Given the description of an element on the screen output the (x, y) to click on. 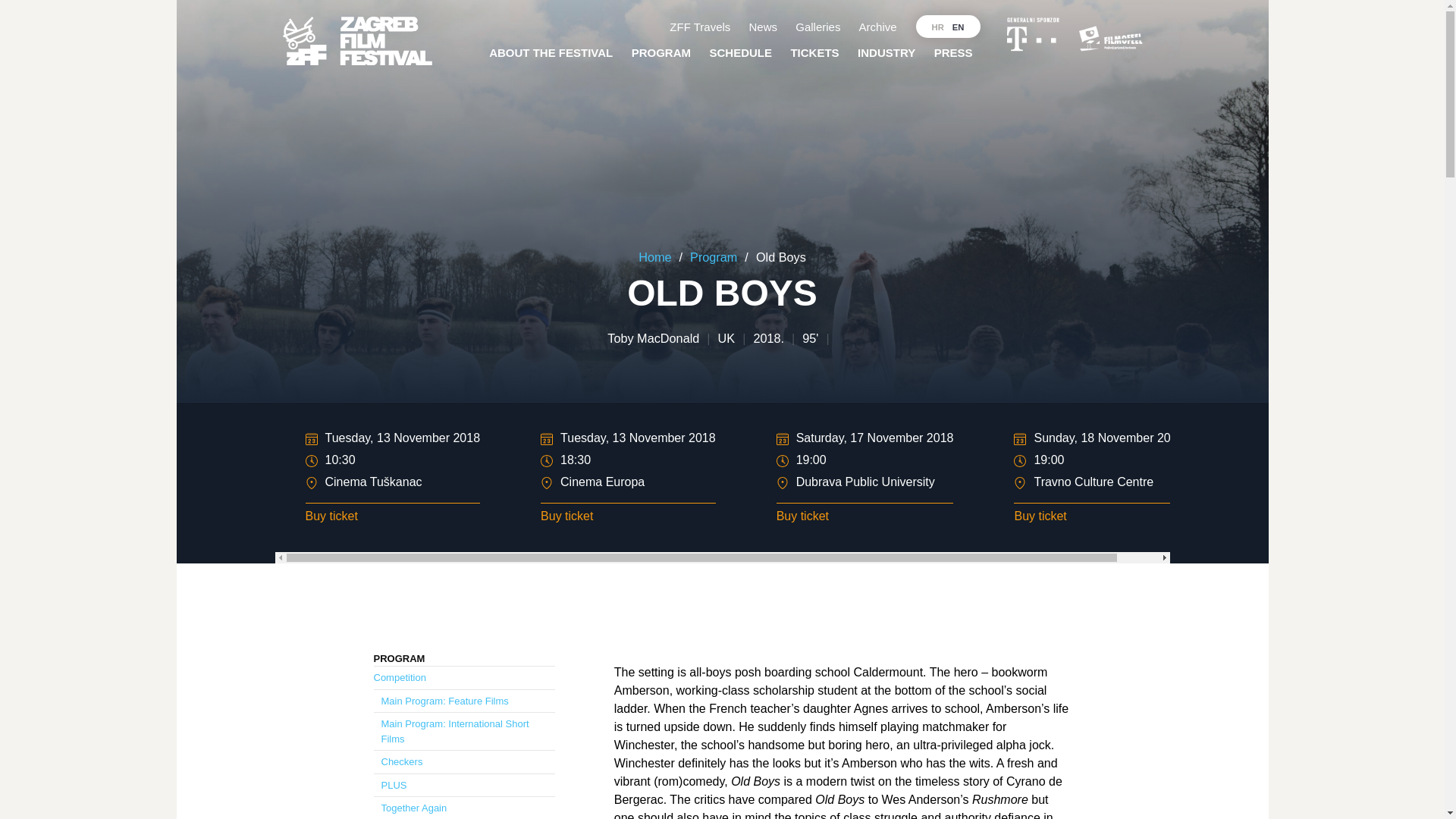
Program (713, 256)
ZFF Travels (700, 26)
Buy ticket (1098, 513)
TICKETS (814, 52)
ABOUT THE FESTIVAL (550, 52)
Buy ticket (628, 513)
PROGRAM (661, 52)
PRESS (952, 52)
Buy ticket (864, 513)
News (763, 26)
Buy ticket (392, 513)
SCHEDULE (739, 52)
INDUSTRY (886, 52)
Home (655, 256)
HR (932, 25)
